Given the description of an element on the screen output the (x, y) to click on. 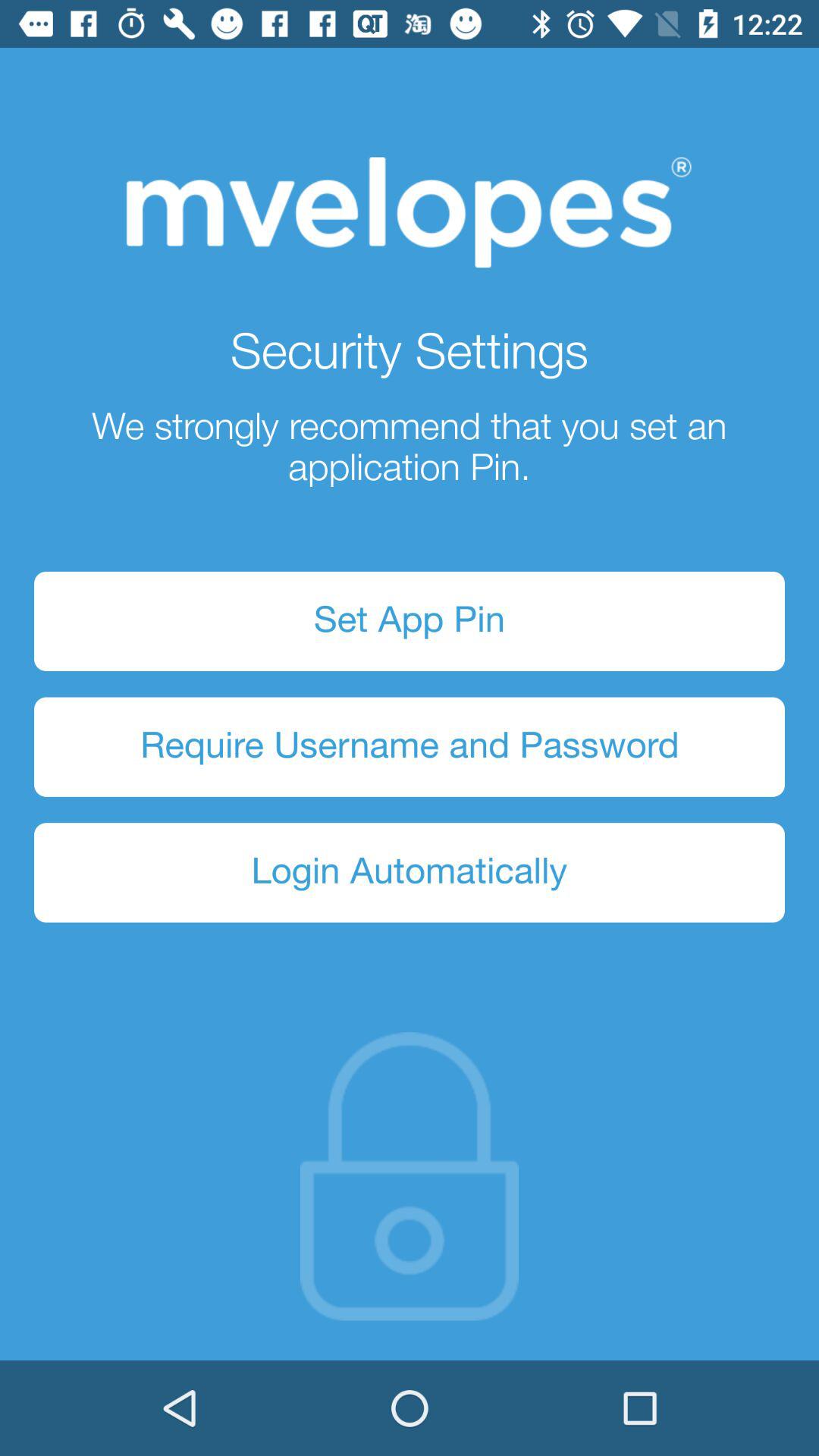
launch icon below set app pin (409, 746)
